Given the description of an element on the screen output the (x, y) to click on. 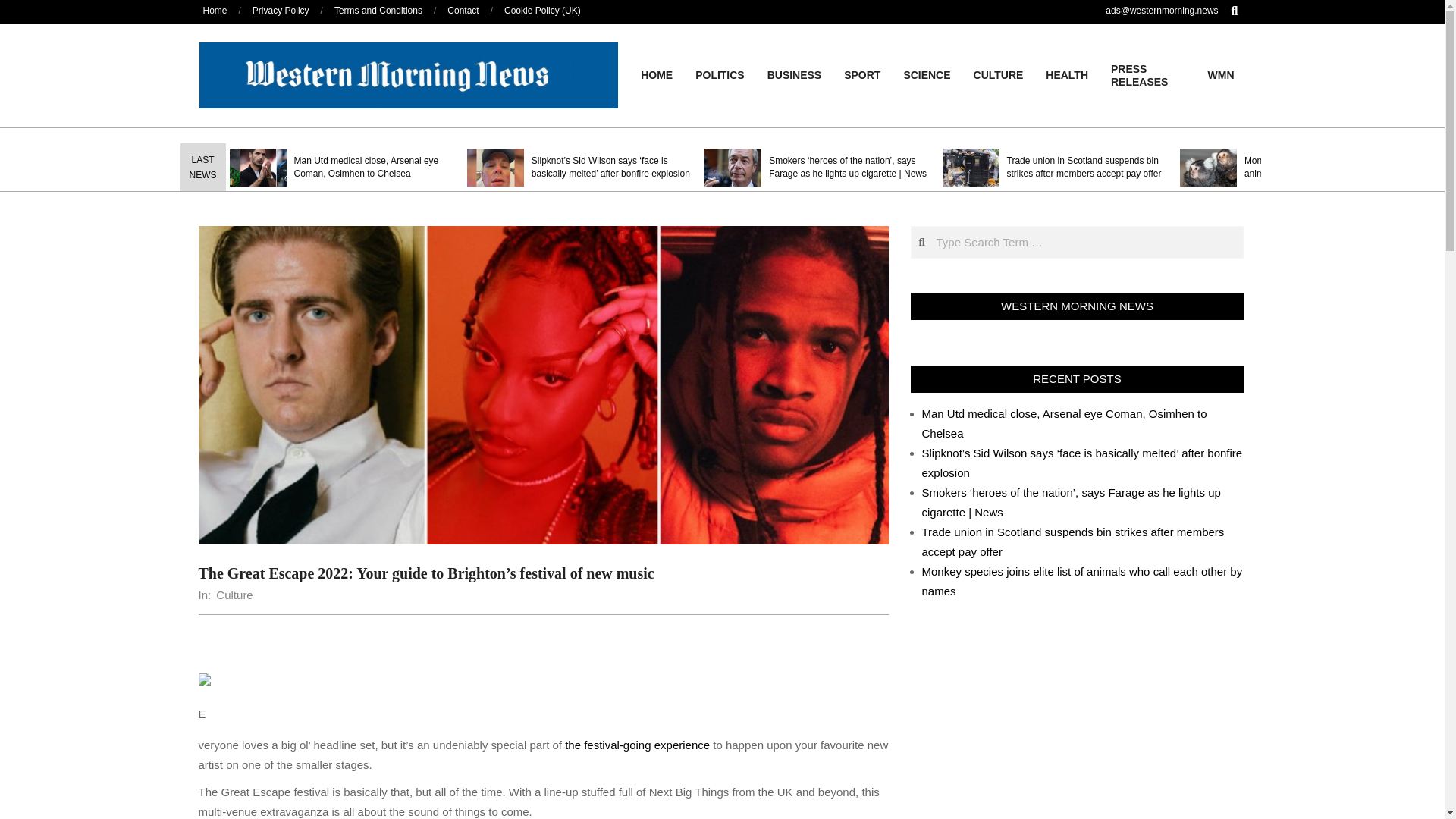
PRESS RELEASES (1147, 75)
HEALTH (1066, 74)
Search (21, 8)
SPORT (861, 74)
Contact (462, 9)
Man Utd medical close, Arsenal eye Coman, Osimhen to Chelsea (366, 167)
POLITICS (719, 74)
